Given the description of an element on the screen output the (x, y) to click on. 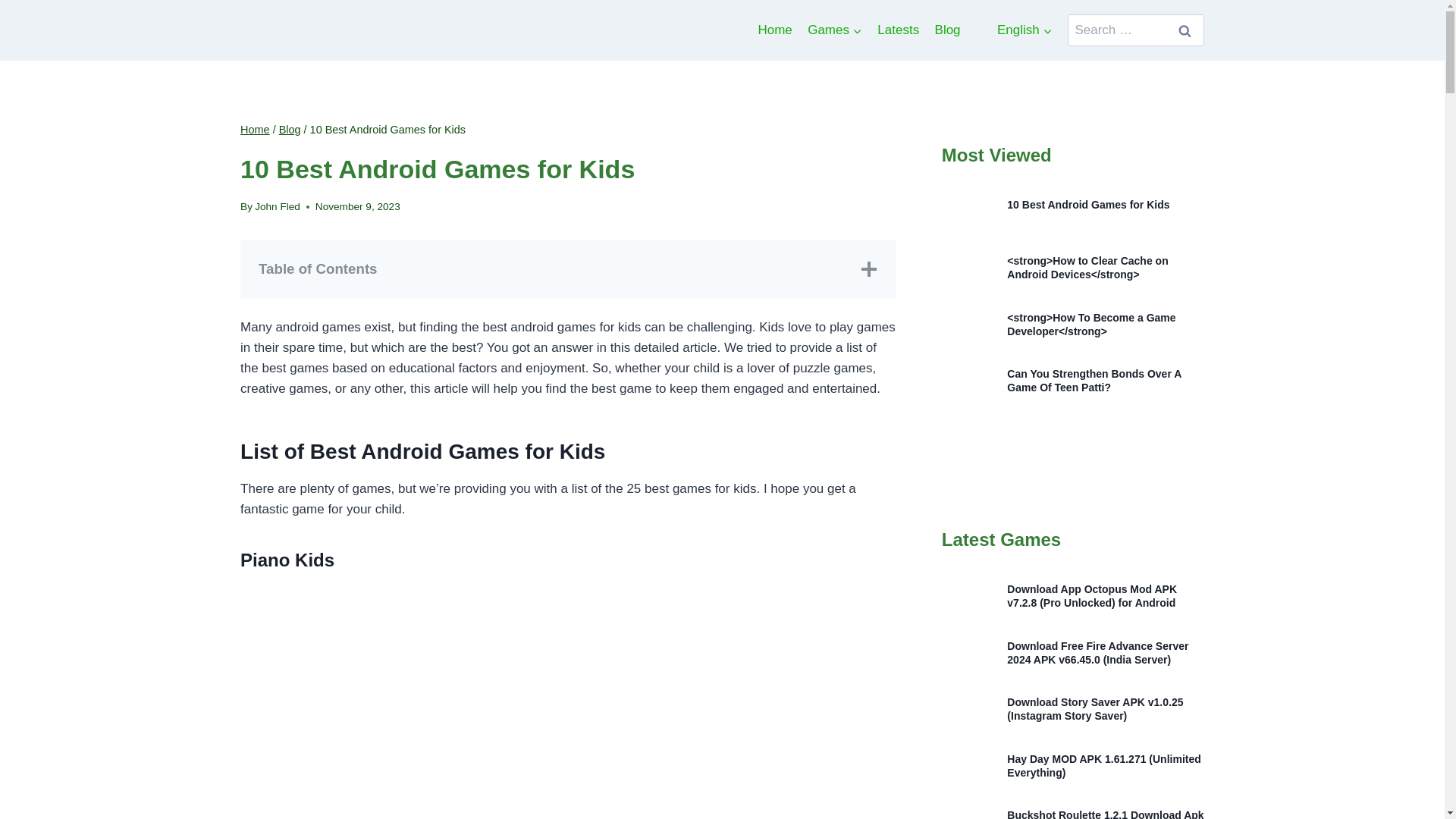
Table of Contents (568, 268)
English (985, 30)
Table of Contents (568, 268)
Search (1185, 30)
Games (834, 30)
Search (1185, 30)
Blog (947, 30)
Latests (897, 30)
Blog (290, 129)
